Given the description of an element on the screen output the (x, y) to click on. 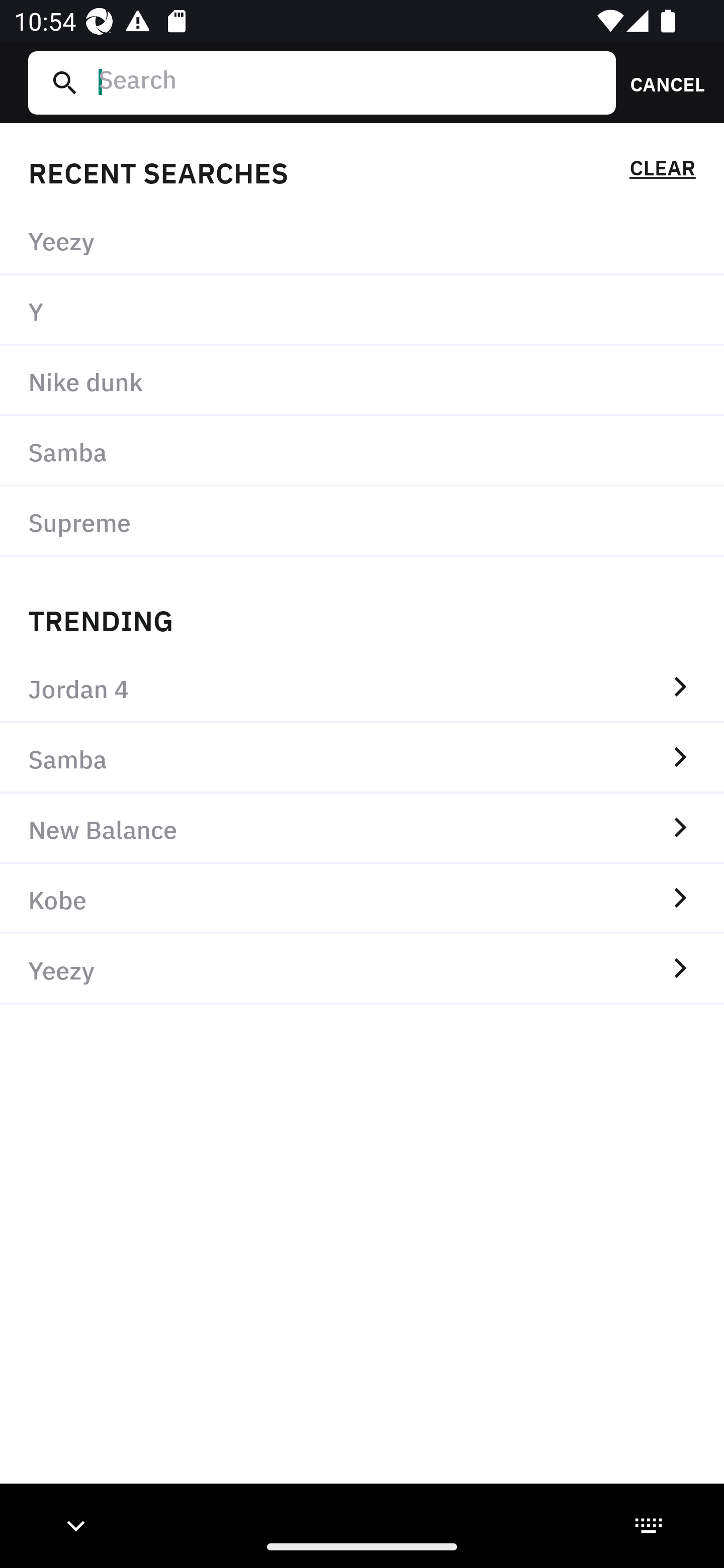
CANCEL (660, 82)
Search (349, 82)
CLEAR (662, 170)
Yeezy (362, 240)
Y (362, 310)
Nike dunk (362, 380)
Samba (362, 450)
Supreme (362, 521)
Jordan 4  (362, 687)
Samba  (362, 757)
New Balance  (362, 828)
Kobe  (362, 898)
Yeezy  (362, 969)
